Given the description of an element on the screen output the (x, y) to click on. 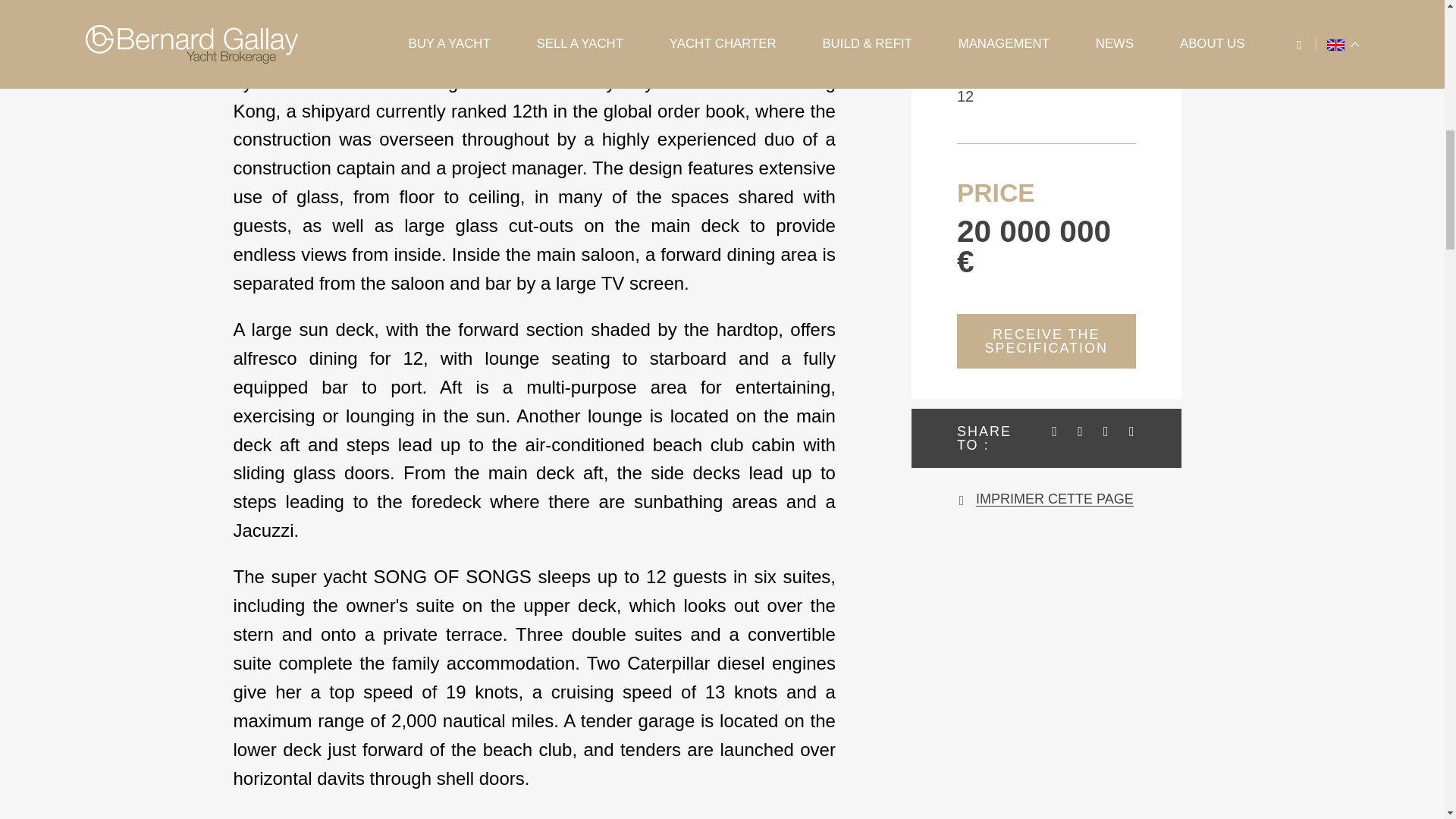
RECEIVE THE SPECIFICATION (1045, 340)
